Given the description of an element on the screen output the (x, y) to click on. 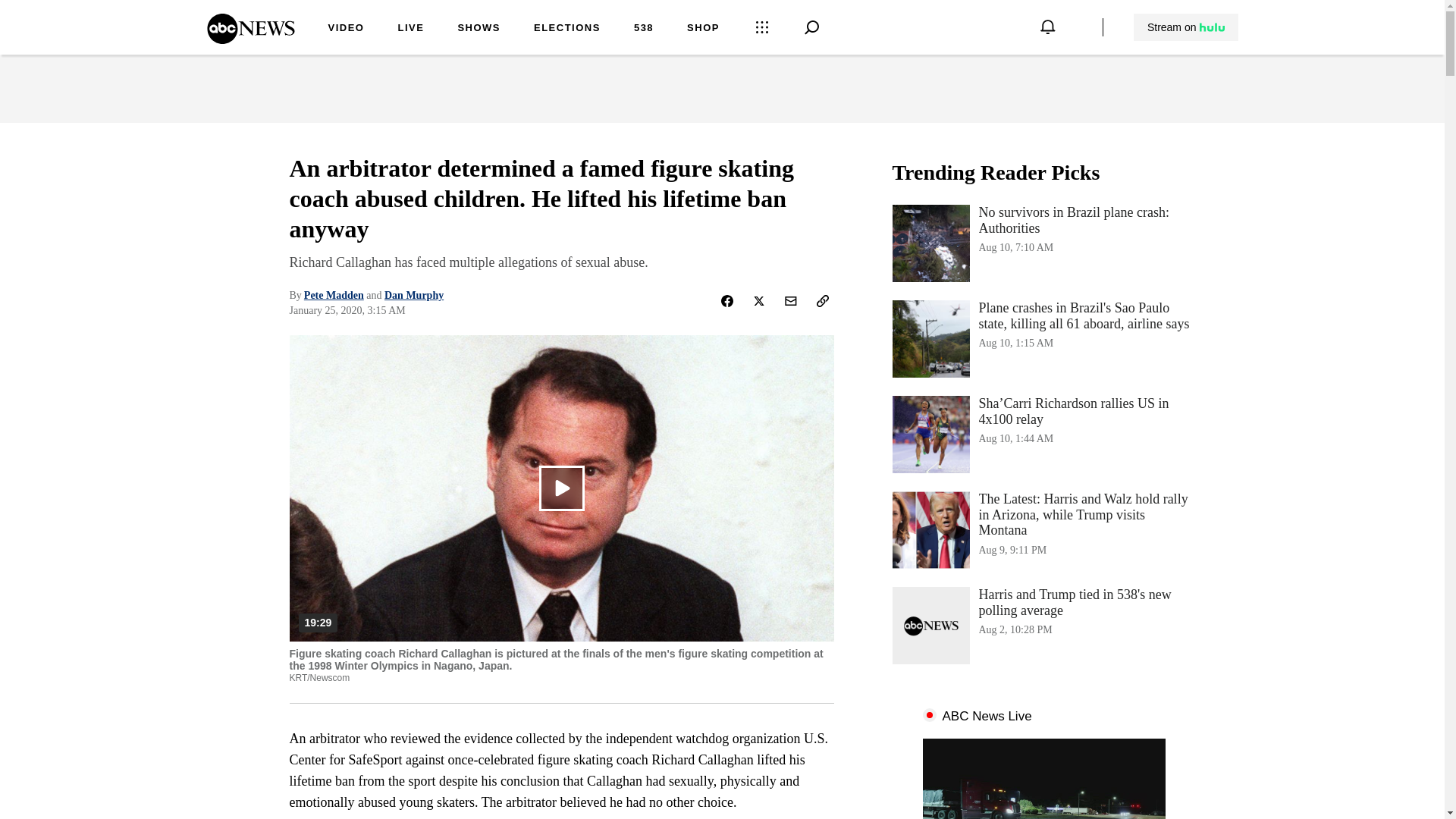
SHOWS (478, 28)
VIDEO (345, 28)
Stream on (1185, 27)
538 (643, 28)
Stream on (1186, 26)
Pete Madden (334, 295)
LIVE (410, 28)
